Given the description of an element on the screen output the (x, y) to click on. 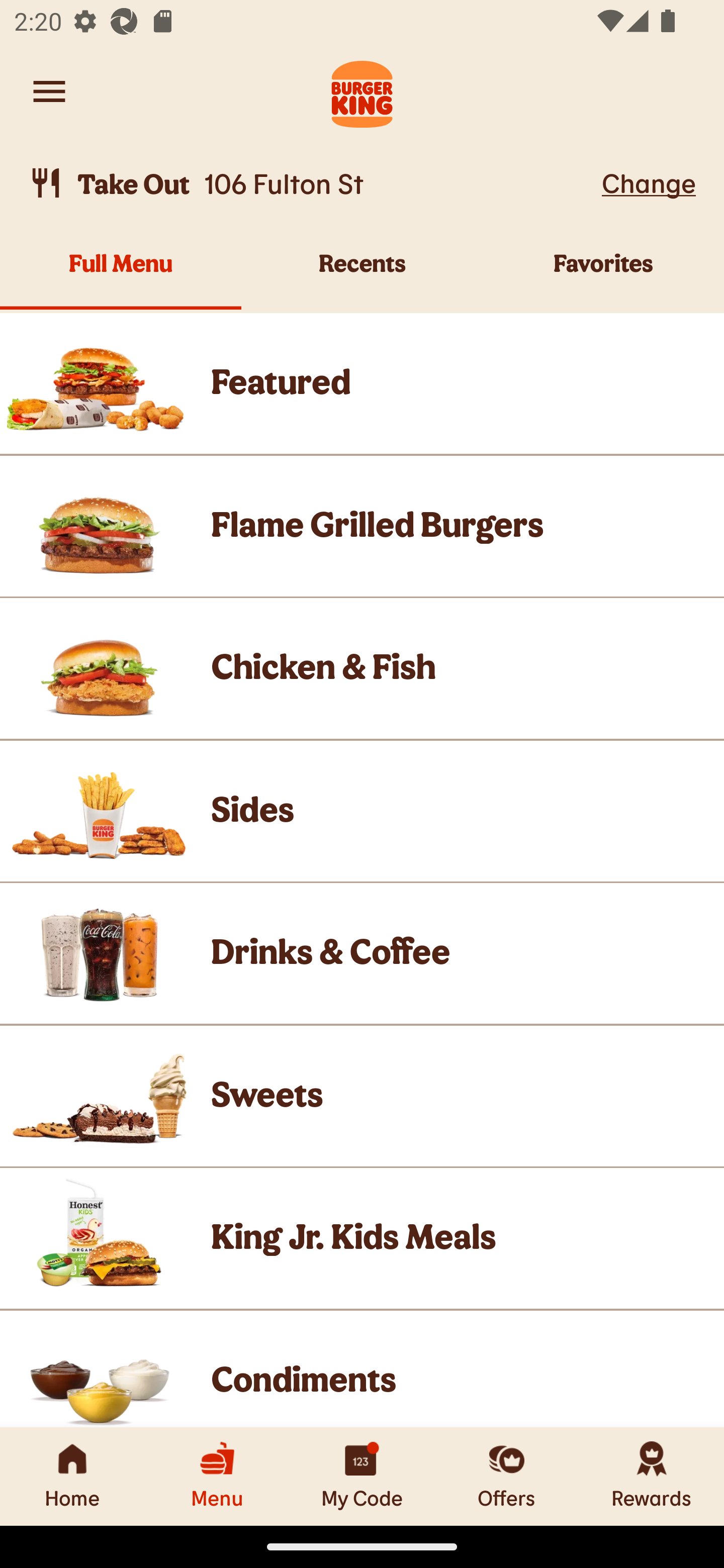
Burger King Logo. Navigate to Home (362, 91)
Navigate to account menu  (49, 91)
Take Out, 106 Fulton St  Take Out 106 Fulton St (311, 183)
Change (648, 182)
Full Menu (120, 273)
Recents (361, 273)
Favorites (603, 273)
Product Image, Featured Product Image Featured (362, 383)
Product Image, Sides Product Image Sides (362, 810)
Product Image, Sweets Product Image Sweets (362, 1095)
Product Image, Condiments Product Image Condiments (362, 1368)
Home (72, 1475)
Menu (216, 1475)
My Code (361, 1475)
Offers (506, 1475)
Rewards (651, 1475)
